Given the description of an element on the screen output the (x, y) to click on. 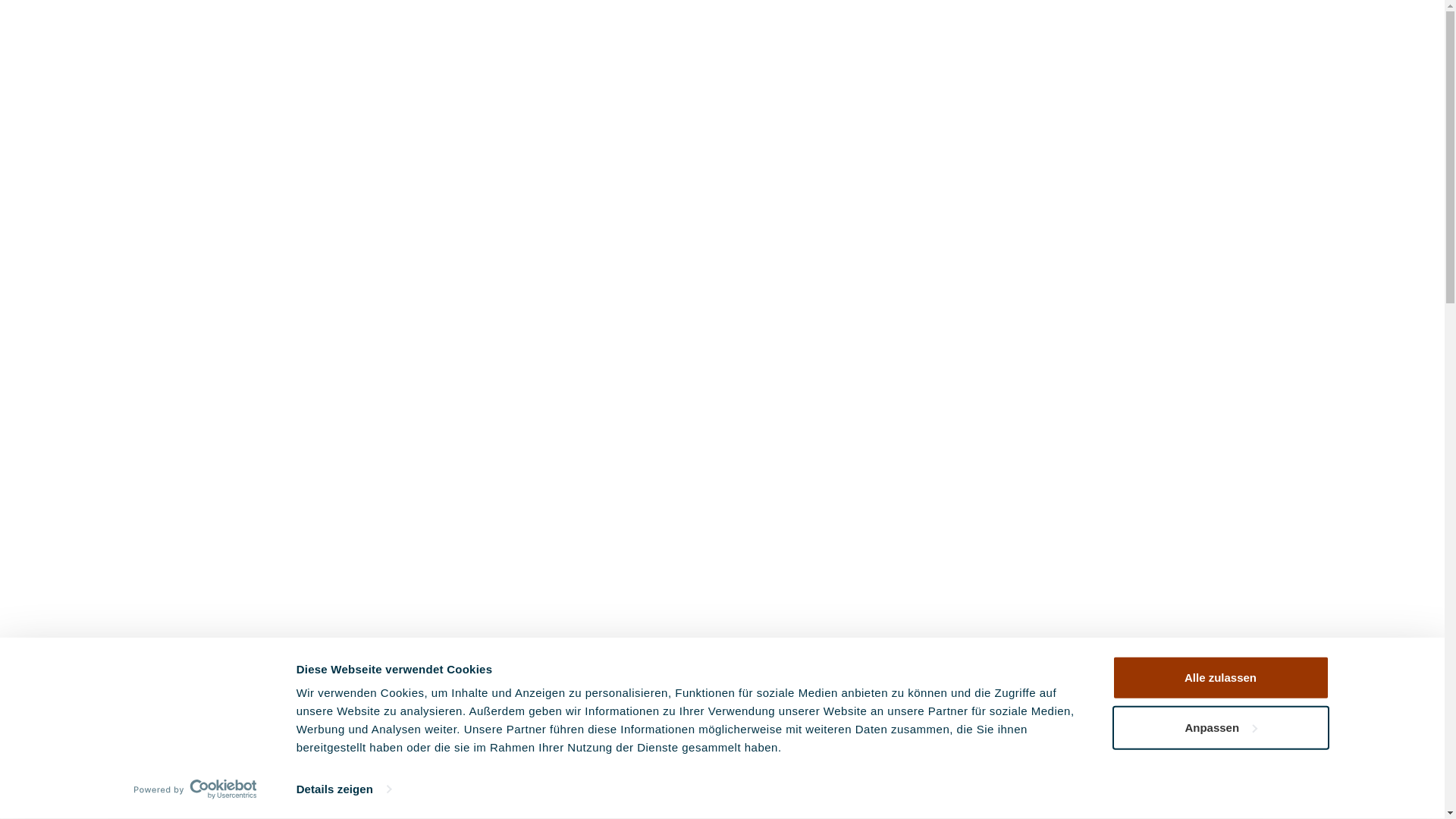
Anpassen Element type: text (1219, 727)
Alle zulassen Element type: text (1219, 677)
Details zeigen Element type: text (343, 789)
